Given the description of an element on the screen output the (x, y) to click on. 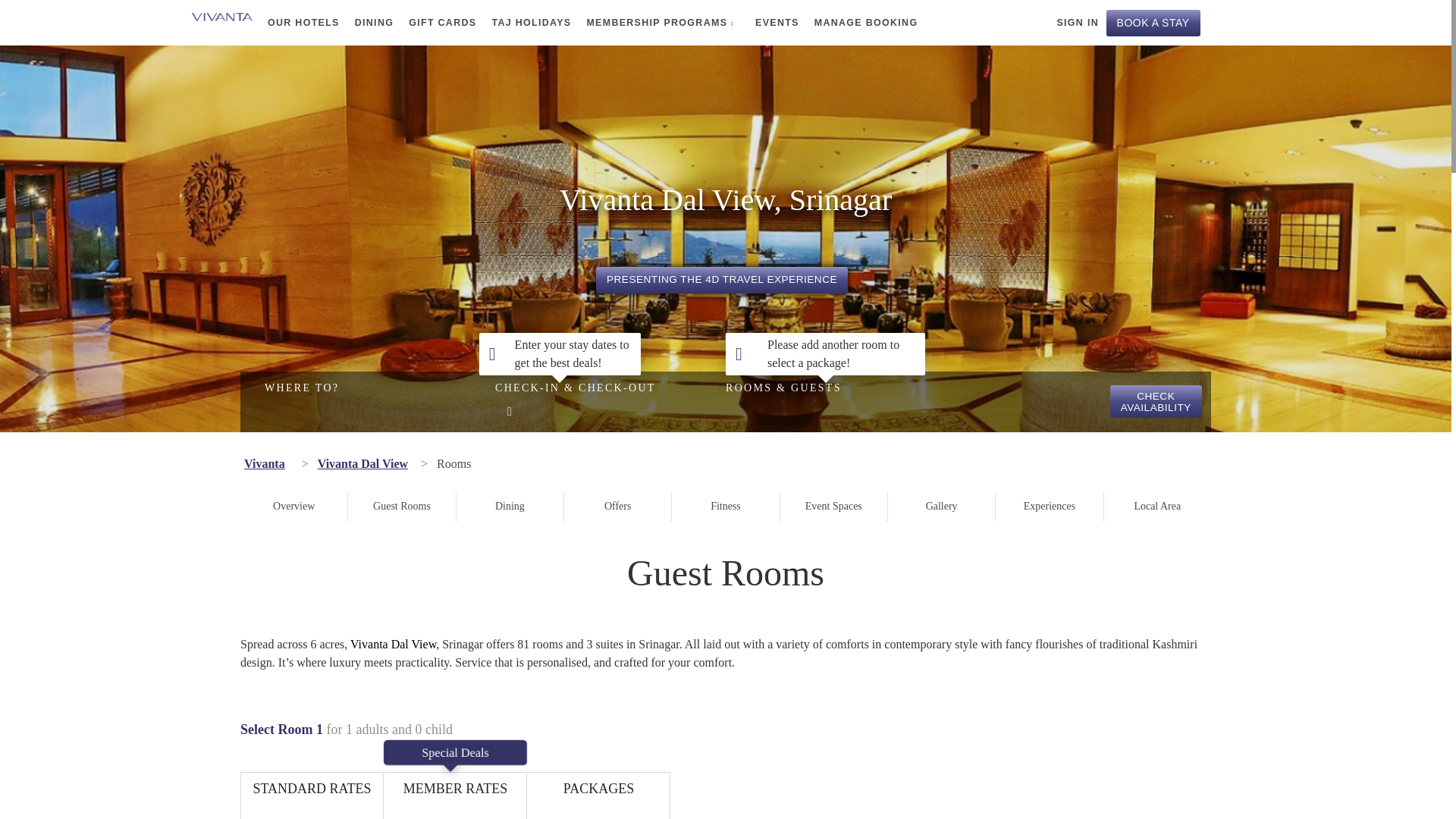
GIFT CARDS (434, 22)
MANAGE BOOKING (858, 22)
BOOK A STAY (1152, 22)
OUR HOTELS (295, 22)
TAJ HOLIDAYS (523, 22)
SIGN IN (1073, 22)
DINING (366, 22)
EVENTS (769, 22)
